Given the description of an element on the screen output the (x, y) to click on. 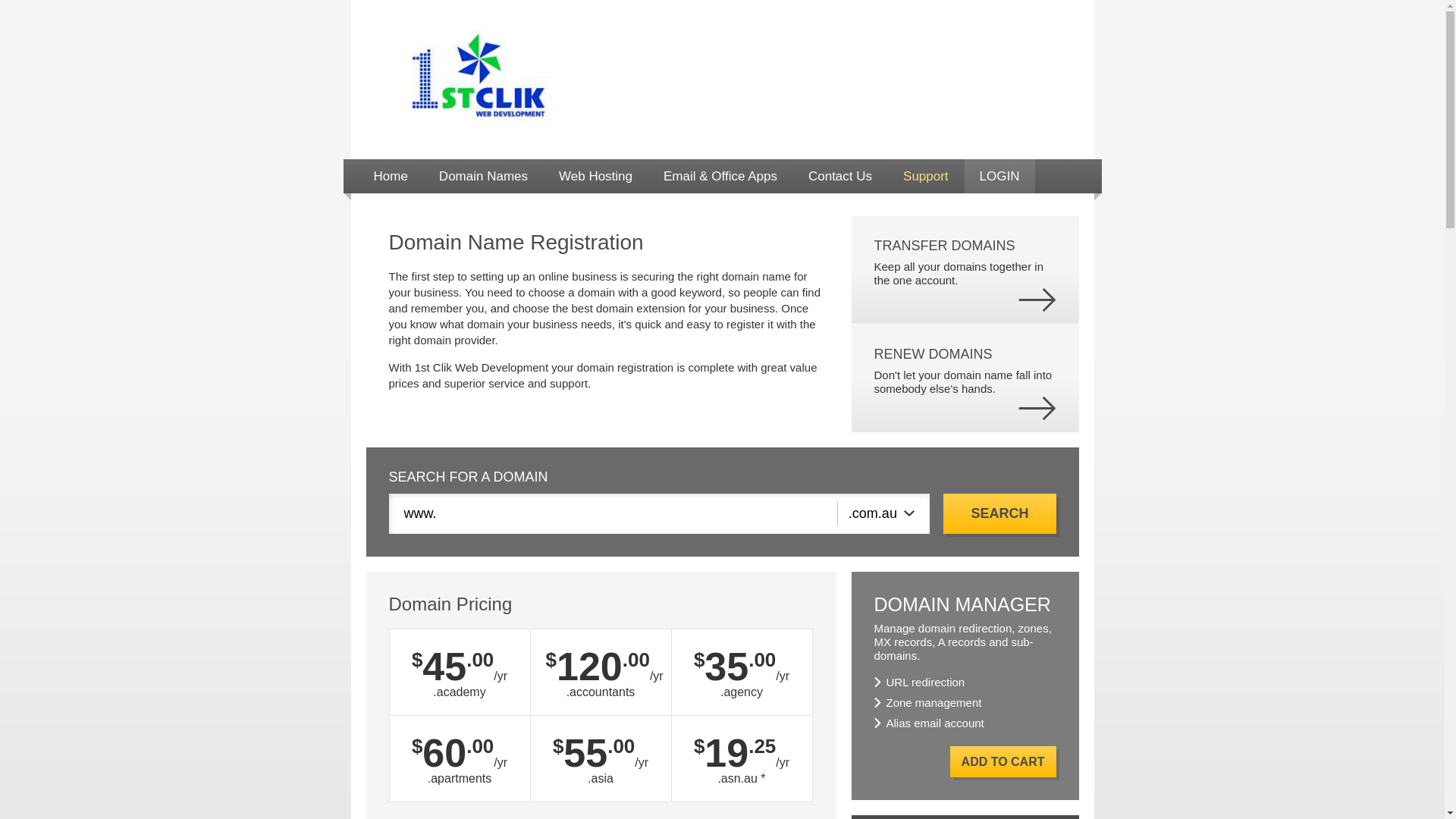
Renew now Element type: text (1036, 407)
Support Element type: text (925, 176)
Search Element type: text (999, 513)
ADD TO CART Element type: text (1003, 761)
LOGIN Element type: text (999, 176)
Email & Office Apps Element type: text (720, 176)
RENEW DOMAINS Element type: text (932, 353)
TRANSFER DOMAINS Element type: text (943, 245)
Web Hosting Element type: text (595, 176)
Home Element type: text (389, 176)
Contact Us Element type: text (840, 176)
Domain Names Element type: text (482, 176)
Transfer now Element type: text (1036, 299)
